Given the description of an element on the screen output the (x, y) to click on. 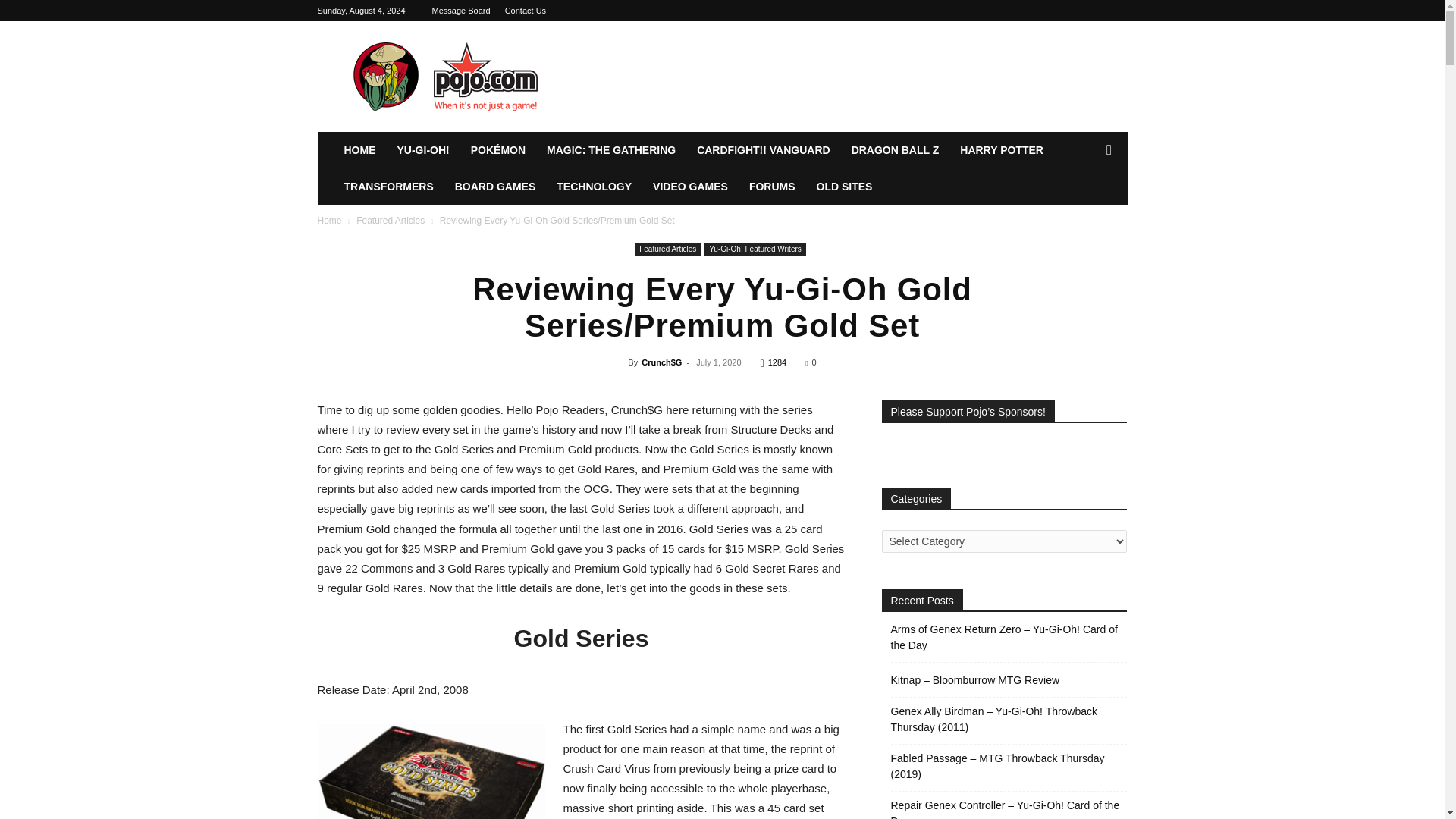
View all posts in Featured Articles (390, 220)
Pojo.com (445, 76)
